Given the description of an element on the screen output the (x, y) to click on. 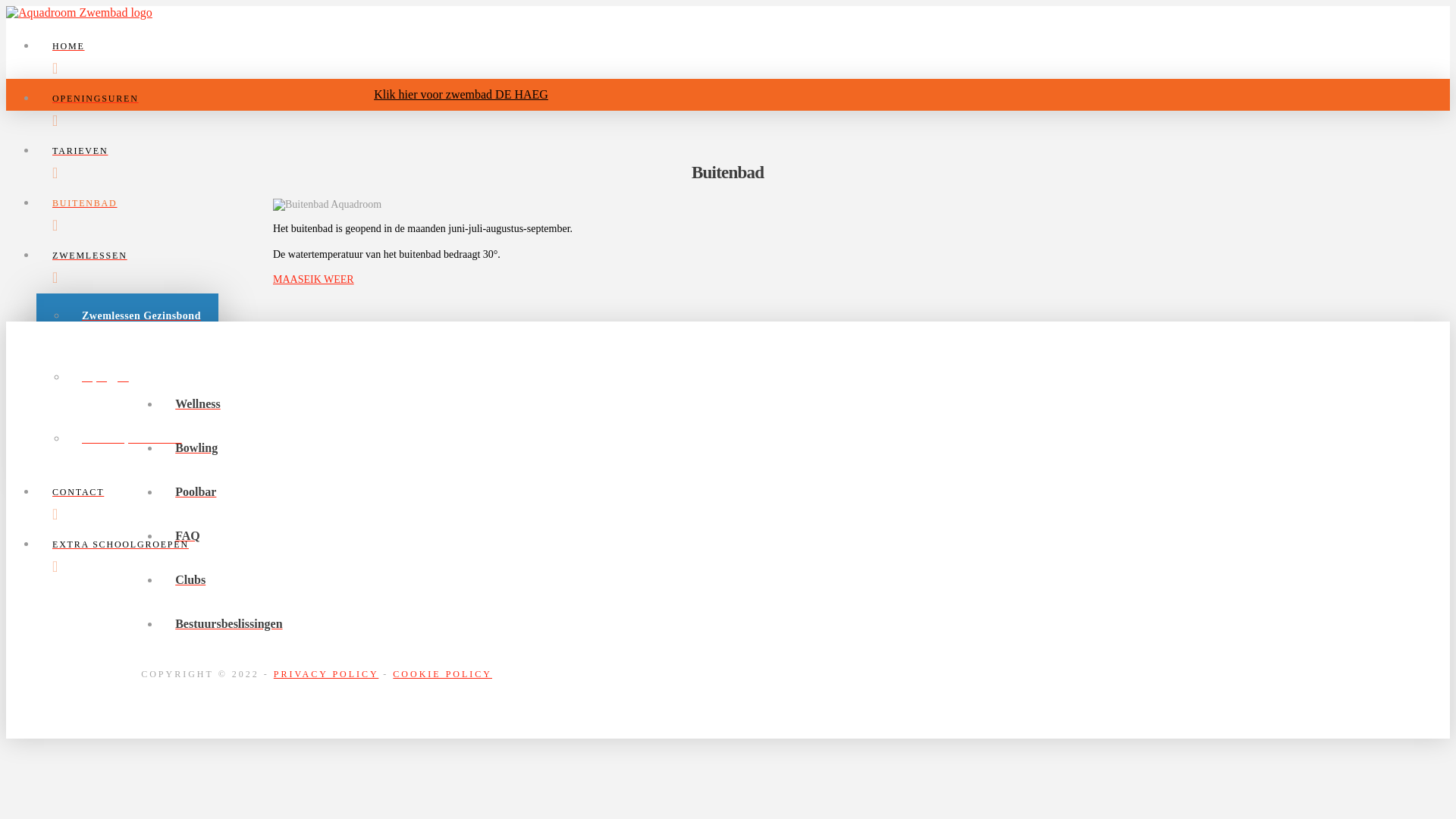
OPENINGSUREN Element type: text (476, 110)
COOKIE POLICY Element type: text (442, 673)
Bootcamp On Water Element type: text (142, 446)
Bestuursbeslissingen Element type: text (743, 624)
ZWEMLESSEN Element type: text (476, 267)
BUITENBAD Element type: text (476, 214)
Klik hier voor zwembad DE HAEG Element type: text (460, 93)
MAASEIK WEER Element type: text (313, 279)
HOME Element type: text (476, 57)
Clubs Element type: text (743, 580)
Aquagym Element type: text (142, 385)
CONTACT Element type: text (476, 503)
PRIVACY POLICY Element type: text (326, 673)
TARIEVEN Element type: text (476, 162)
Poolbar Element type: text (743, 492)
FAQ Element type: text (743, 536)
EXTRA SCHOOLGROEPEN Element type: text (476, 556)
Wellness Element type: text (743, 404)
Zwemlessen Gezinsbond Element type: text (142, 323)
Bowling Element type: text (743, 448)
